Given the description of an element on the screen output the (x, y) to click on. 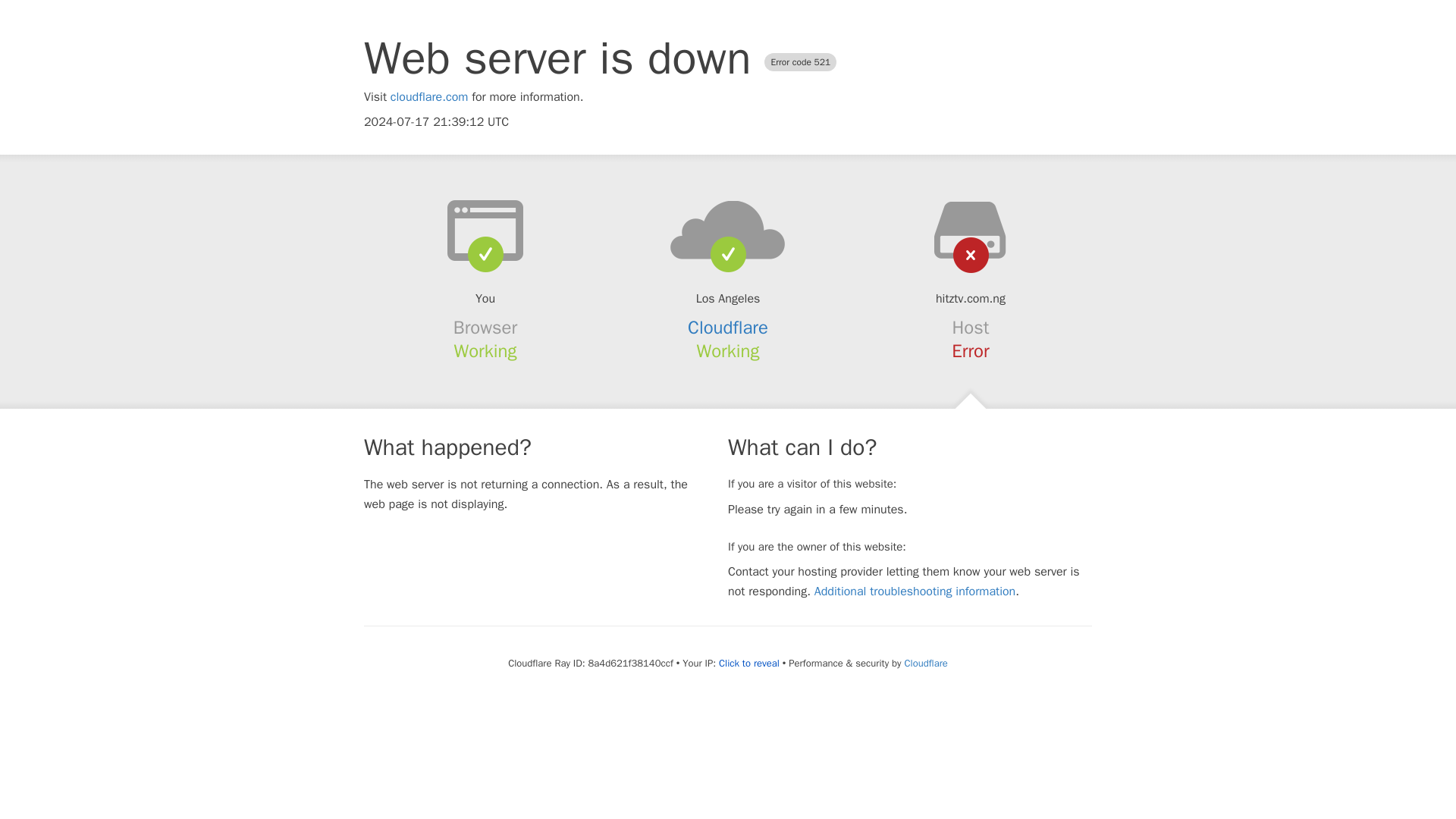
Click to reveal (748, 663)
Cloudflare (925, 662)
cloudflare.com (429, 96)
Cloudflare (727, 327)
Additional troubleshooting information (913, 590)
